Given the description of an element on the screen output the (x, y) to click on. 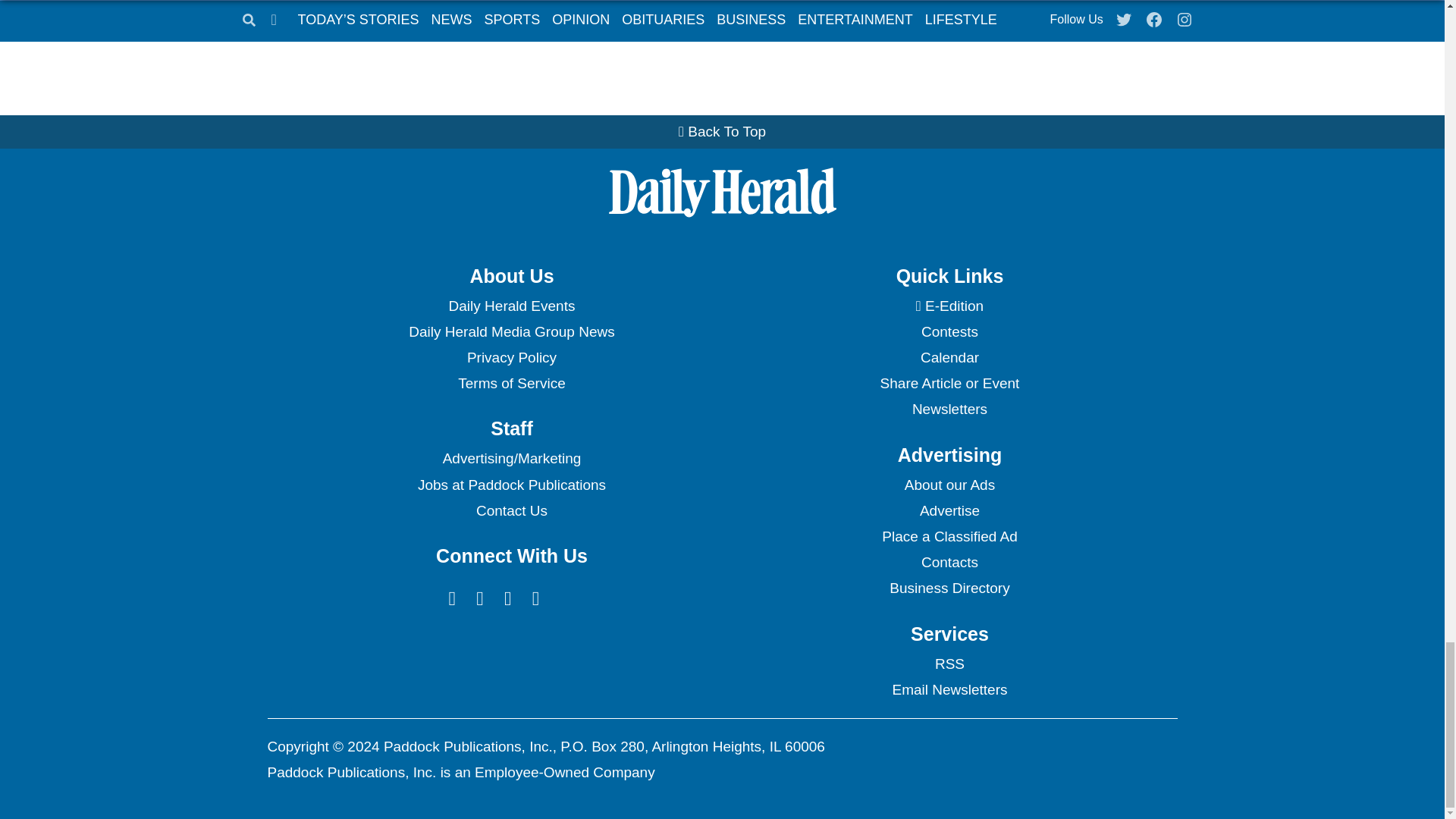
Terms of Service (511, 383)
Contests (949, 331)
Jobs at Paddock Publications (511, 484)
Daily Herald Digital Newspaper (949, 306)
Daily Herald Media Group News (511, 331)
Contact Us (511, 510)
Privacy Policy (511, 357)
Daily Herald Events (511, 306)
